Given the description of an element on the screen output the (x, y) to click on. 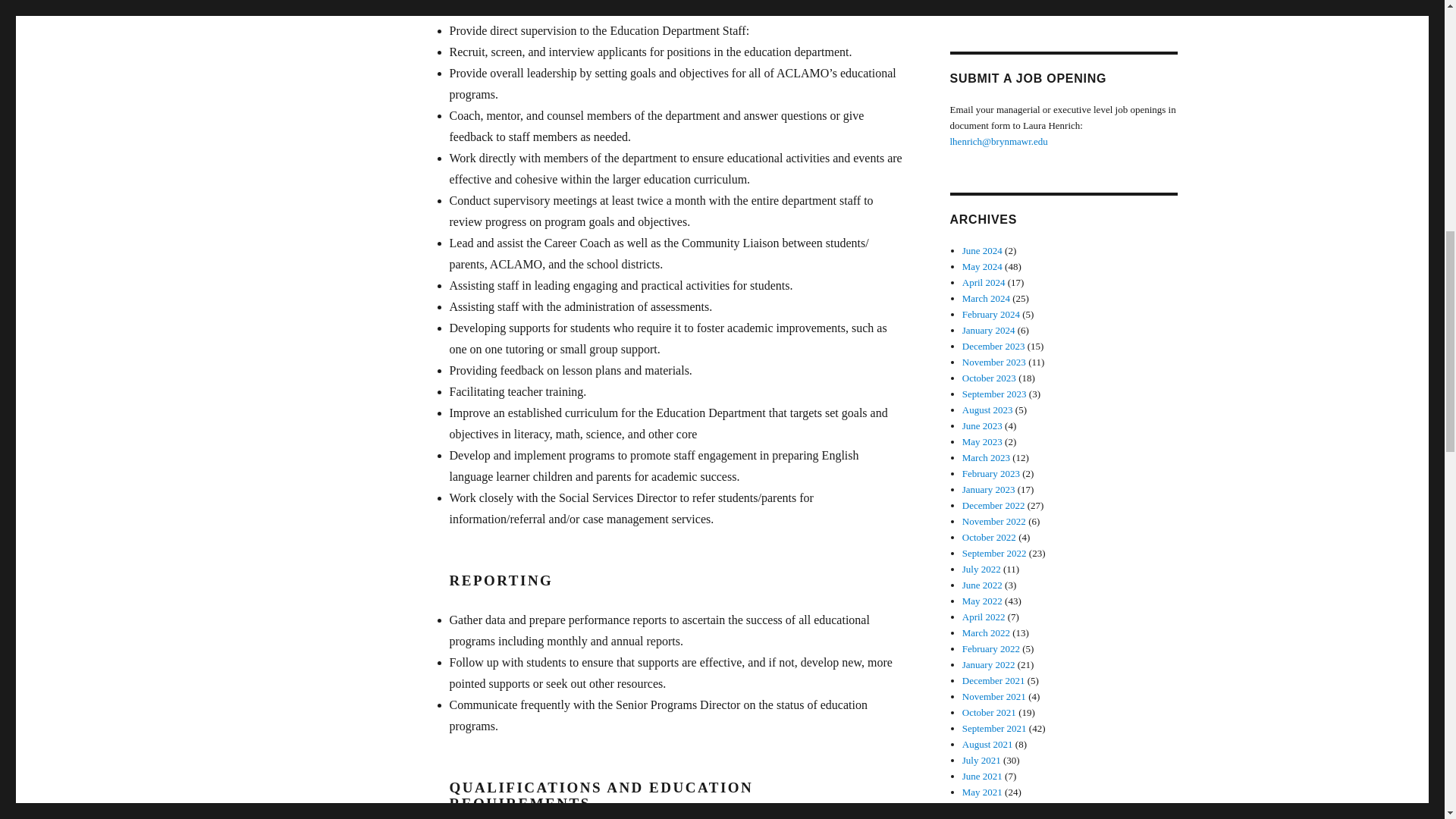
September 2023 (994, 393)
December 2023 (993, 346)
June 2024 (982, 250)
May 2024 (982, 266)
Idealist.org (984, 2)
June 2023 (982, 425)
January 2023 (988, 489)
November 2022 (994, 521)
May 2022 (982, 600)
October 2022 (989, 536)
March 2023 (986, 457)
February 2023 (991, 473)
July 2022 (981, 568)
November 2023 (994, 361)
August 2023 (987, 409)
